Given the description of an element on the screen output the (x, y) to click on. 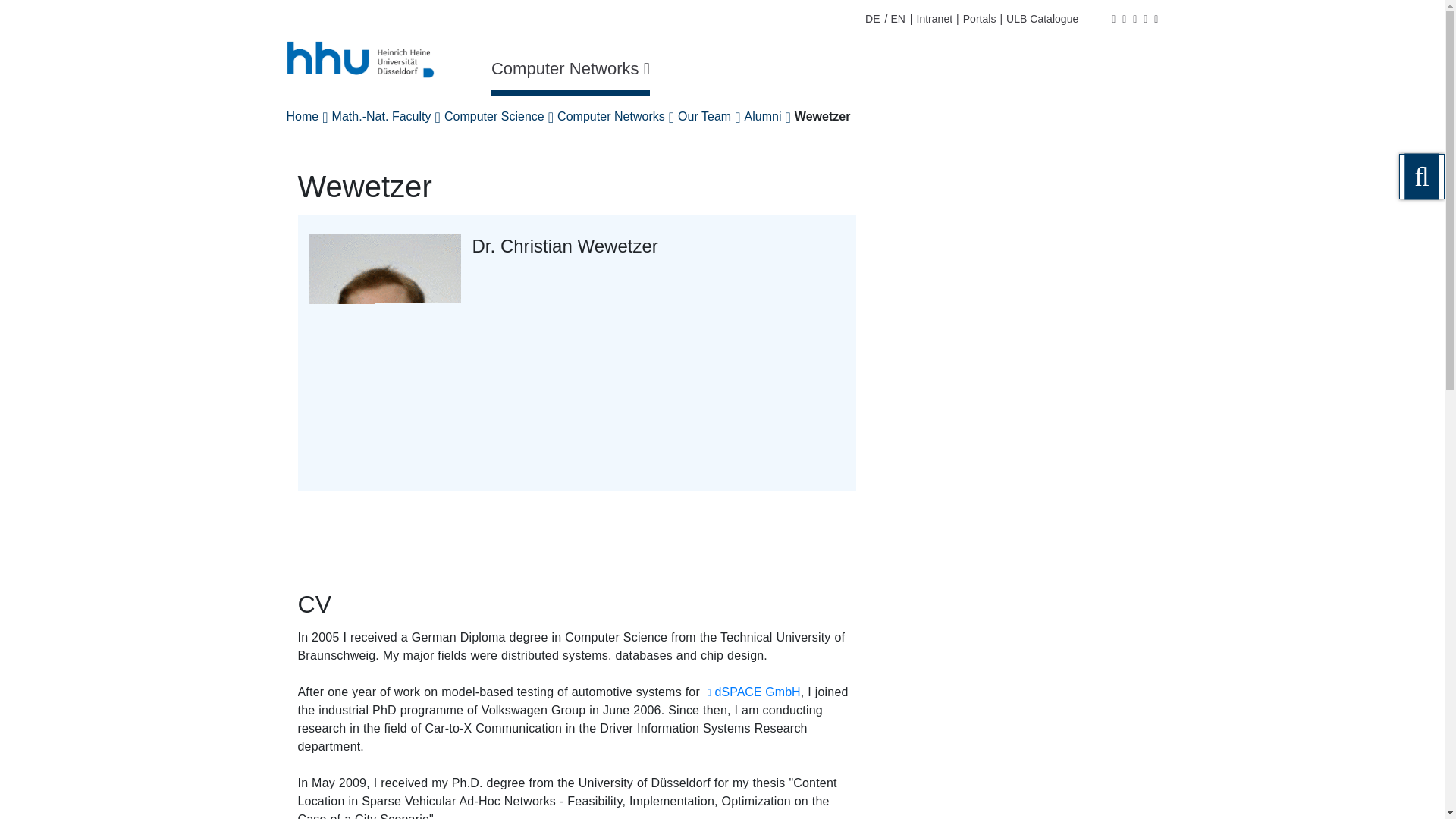
Intranet (934, 19)
DE (871, 19)
Portals (979, 19)
ULB Catalogue (1042, 19)
ULB Catalogue (1042, 19)
EN (896, 19)
Intranet (934, 19)
Portals (979, 19)
